Given the description of an element on the screen output the (x, y) to click on. 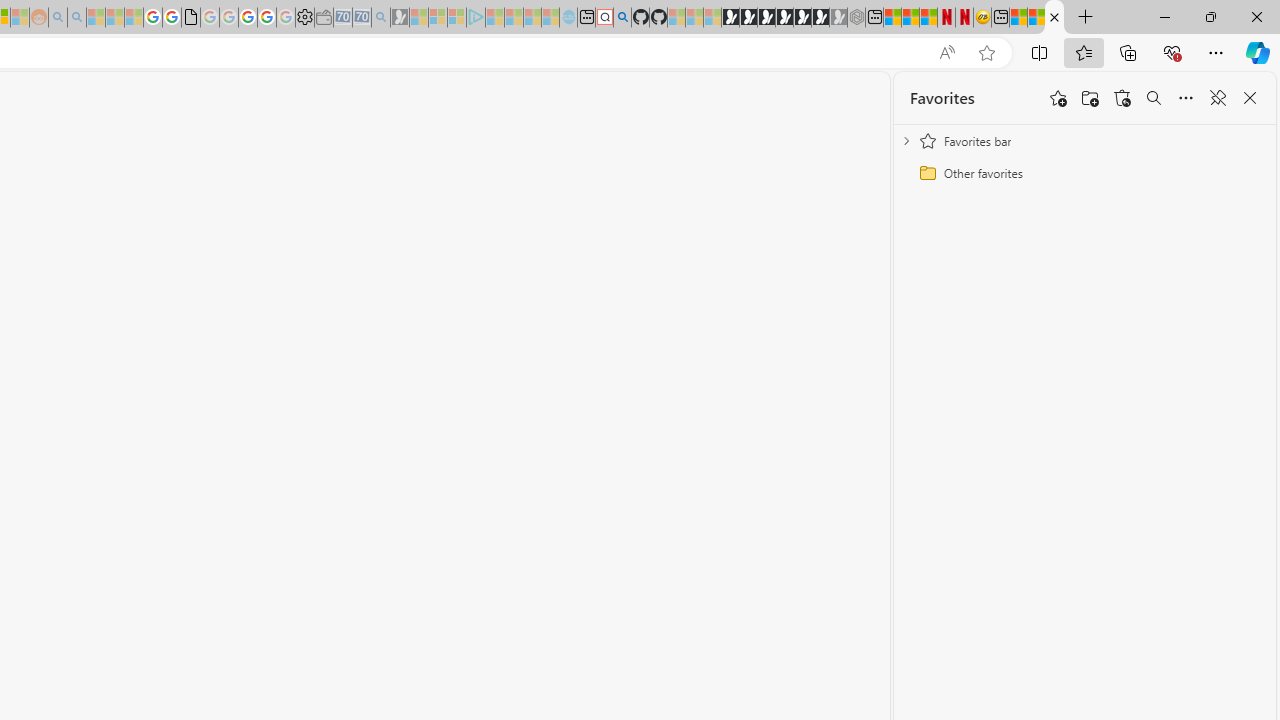
github - Search (622, 17)
Play Cave FRVR in your browser | Games from Microsoft Start (765, 17)
Microsoft Start Gaming - Sleeping (399, 17)
Close (1256, 16)
Browser essentials (1171, 52)
Add this page to favorites (1058, 98)
Collections (1128, 52)
Minimize (1164, 16)
